Given the description of an element on the screen output the (x, y) to click on. 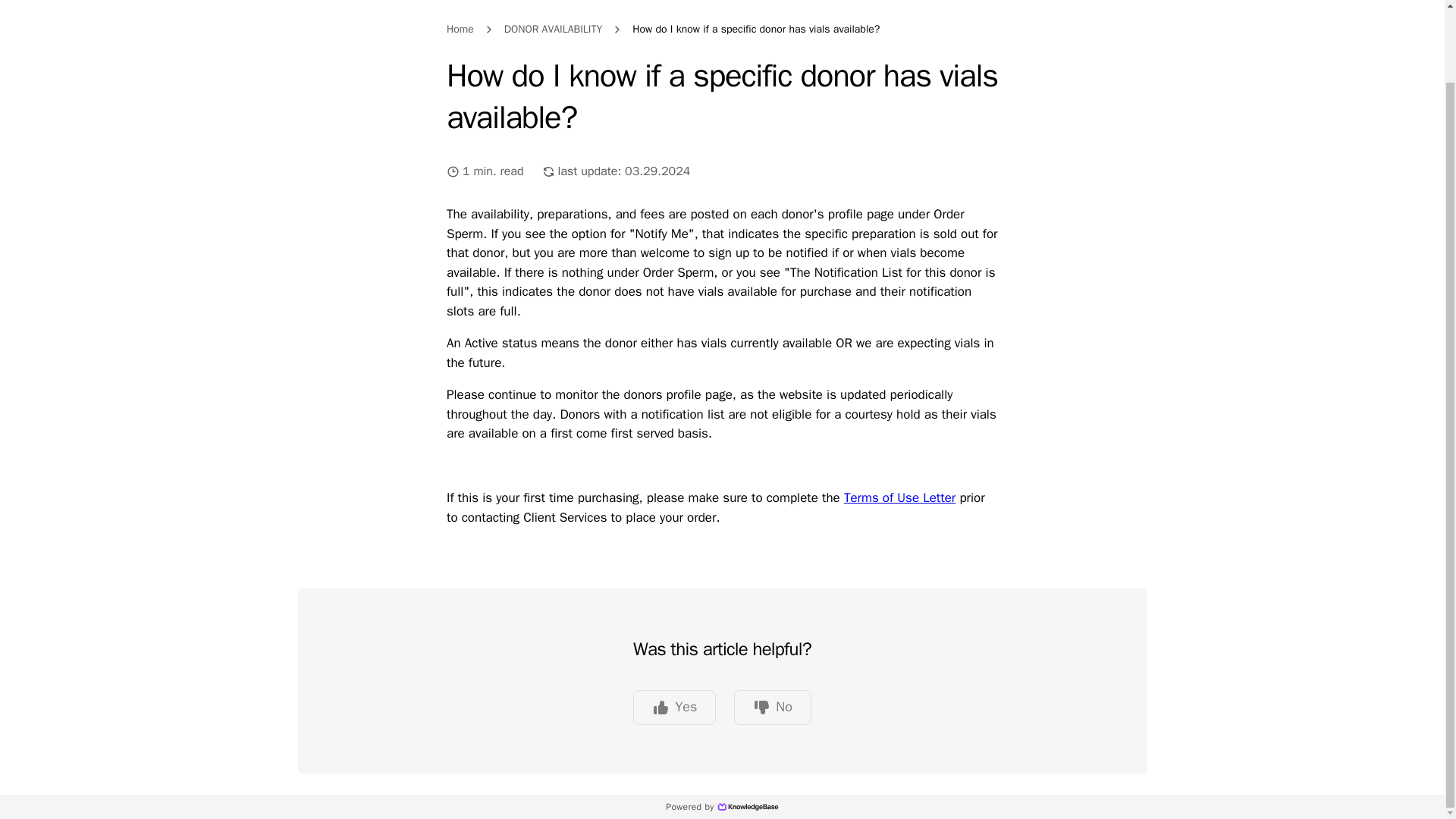
Home (460, 28)
DONOR AVAILABILITY (552, 28)
No (771, 707)
Terms of Use Letter (899, 497)
Yes (674, 707)
